Given the description of an element on the screen output the (x, y) to click on. 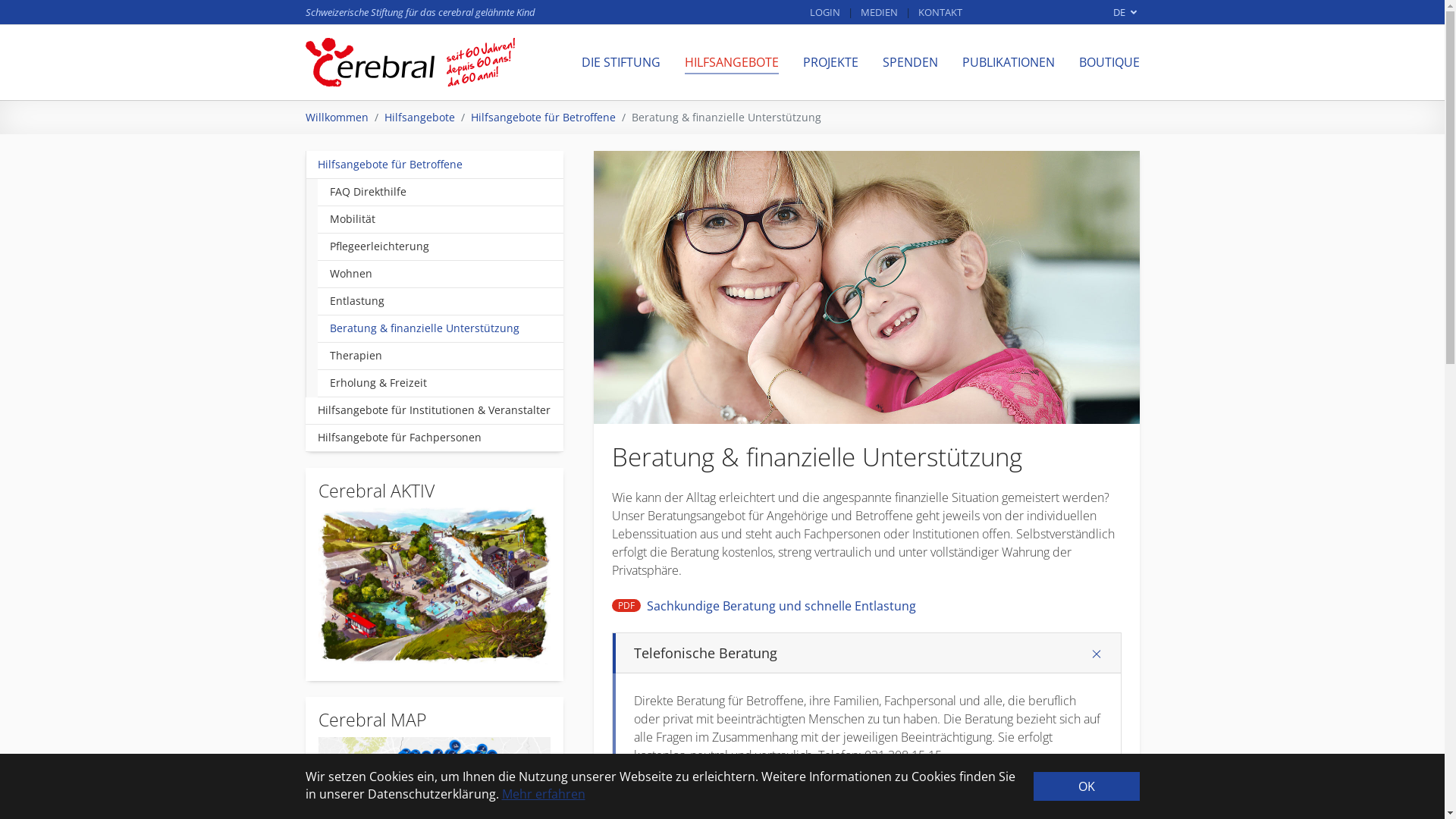
BOUTIQUE Element type: text (1108, 62)
Login Element type: text (892, 632)
LOGIN Element type: text (824, 11)
Pflegeartikelshop Element type: text (775, 686)
Hilfsangebote Element type: text (767, 673)
KONTAKT Element type: text (939, 11)
Willkommen Element type: text (335, 116)
PDFSachkundige Beratung und schnelle Entlastung Element type: text (763, 605)
MEDIEN Element type: text (878, 11)
Spenden Element type: text (1041, 632)
Publikationen Element type: text (624, 673)
Sitemap Element type: text (898, 646)
PROJEKTE Element type: text (829, 62)
Cerebral AKTIV Element type: text (770, 632)
SPENDEN Element type: text (910, 62)
Impressum Element type: text (904, 659)
Mehr erfahren Element type: text (543, 793)
Datenschutz Element type: text (907, 673)
cerebral@cerebral.ch Element type: text (353, 619)
Cerebral AKTIV Element type: hover (434, 585)
Telefonische Beratung Element type: text (866, 653)
Therapien Element type: text (439, 356)
Cerebral Ausweis Element type: text (775, 659)
Cerebral MAP Element type: text (767, 646)
Die Stiftung Element type: text (620, 632)
Boutique Element type: text (1042, 646)
Twitter Element type: hover (631, 571)
YouTube Element type: hover (679, 571)
Projekte Element type: text (613, 659)
PUBLIKATIONEN Element type: text (1007, 62)
Entlastung Element type: text (439, 301)
Finden Element type: text (1121, 572)
FAQ Direkthilfe Element type: text (439, 192)
Facebook Element type: hover (608, 571)
Barrierefreiheit Element type: text (914, 686)
Wohnen Element type: text (439, 274)
DIE STIFTUNG Element type: text (619, 62)
Pflegeerleichterung Element type: text (439, 246)
Instagram Element type: hover (655, 571)
Hilfsangebote Element type: text (418, 116)
Stiftung Cerebral Element type: hover (409, 62)
Kontakt Element type: text (611, 686)
Erholung & Freizeit Element type: text (439, 383)
OK Element type: text (1085, 785)
HILFSANGEBOTE Element type: text (730, 62)
